Given the description of an element on the screen output the (x, y) to click on. 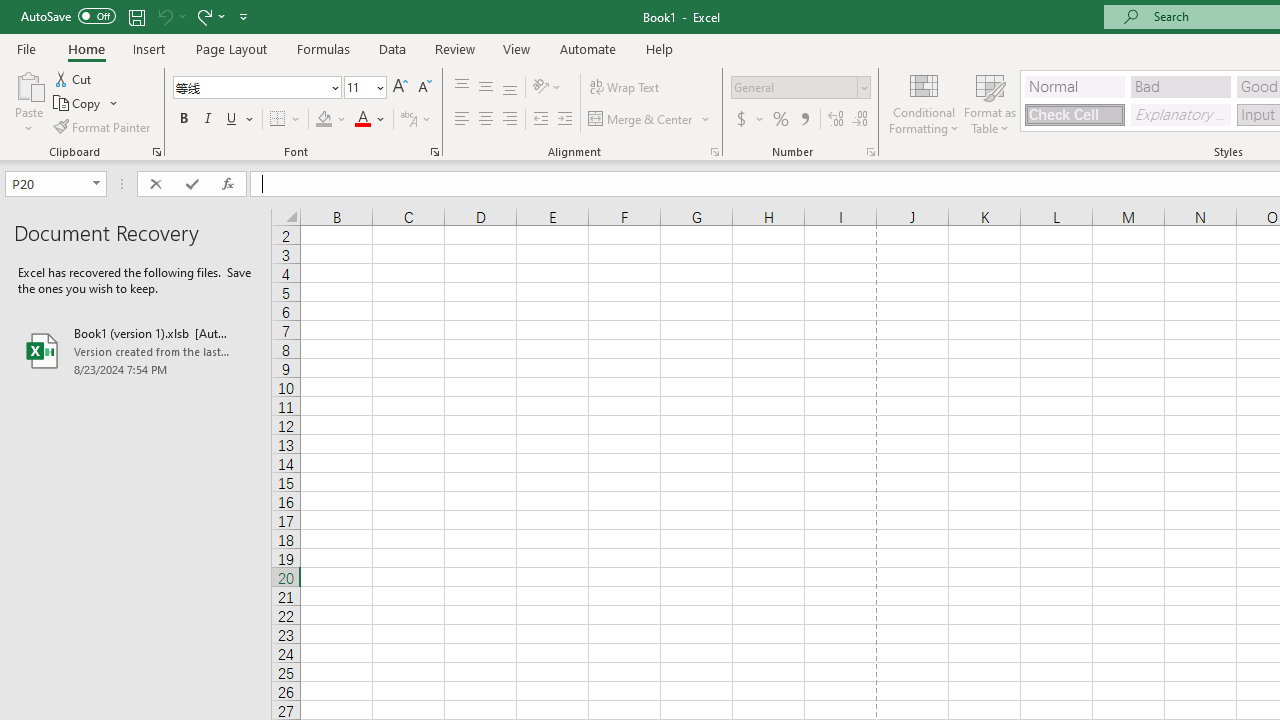
Check Cell (1074, 114)
Font Size (365, 87)
Bold (183, 119)
Decrease Indent (540, 119)
Bottom Align (509, 87)
Decrease Decimal (859, 119)
Conditional Formatting (924, 102)
Bottom Border (278, 119)
Borders (285, 119)
Show Phonetic Field (408, 119)
